Given the description of an element on the screen output the (x, y) to click on. 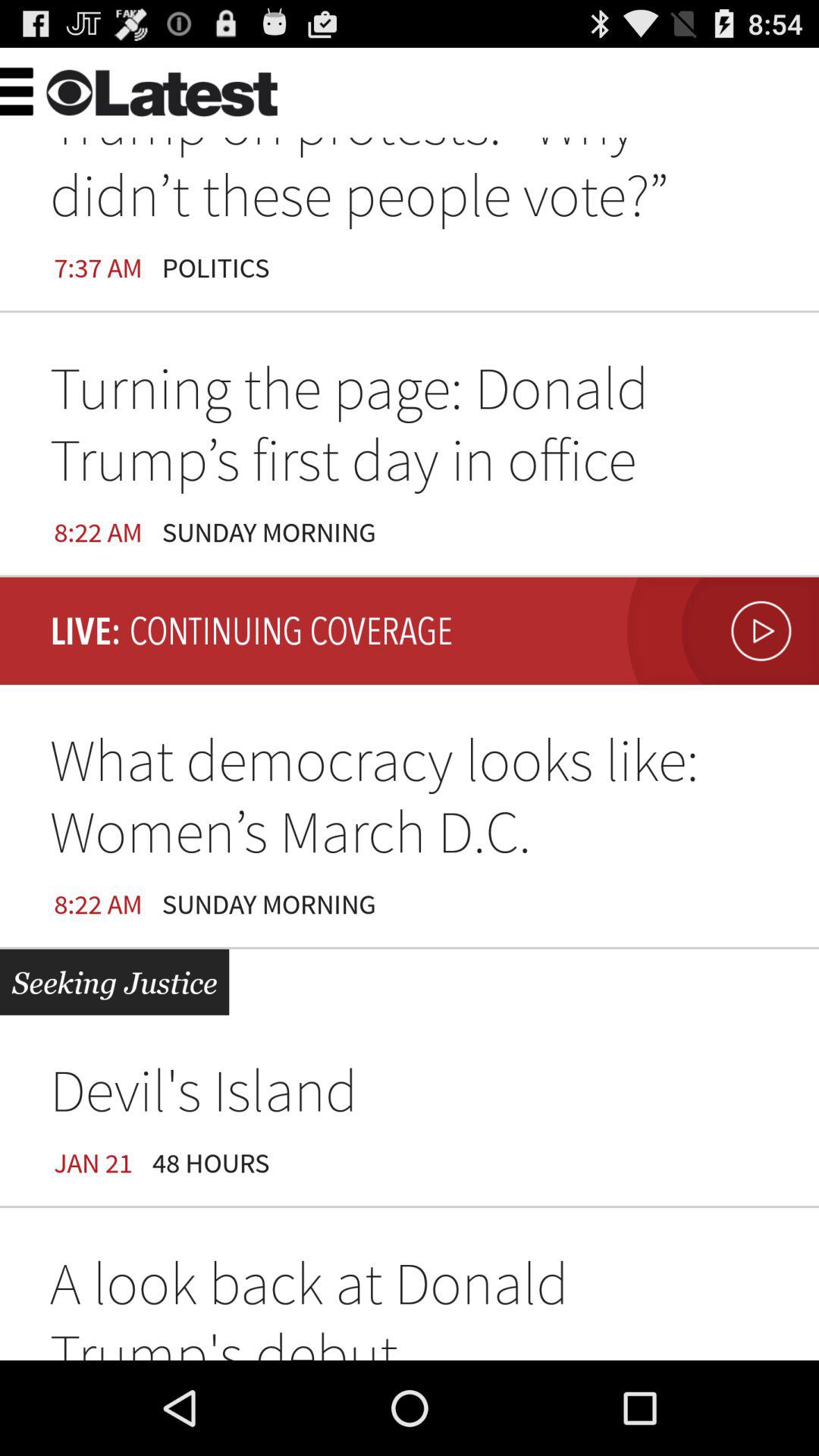
open options (49, 89)
